Given the description of an element on the screen output the (x, y) to click on. 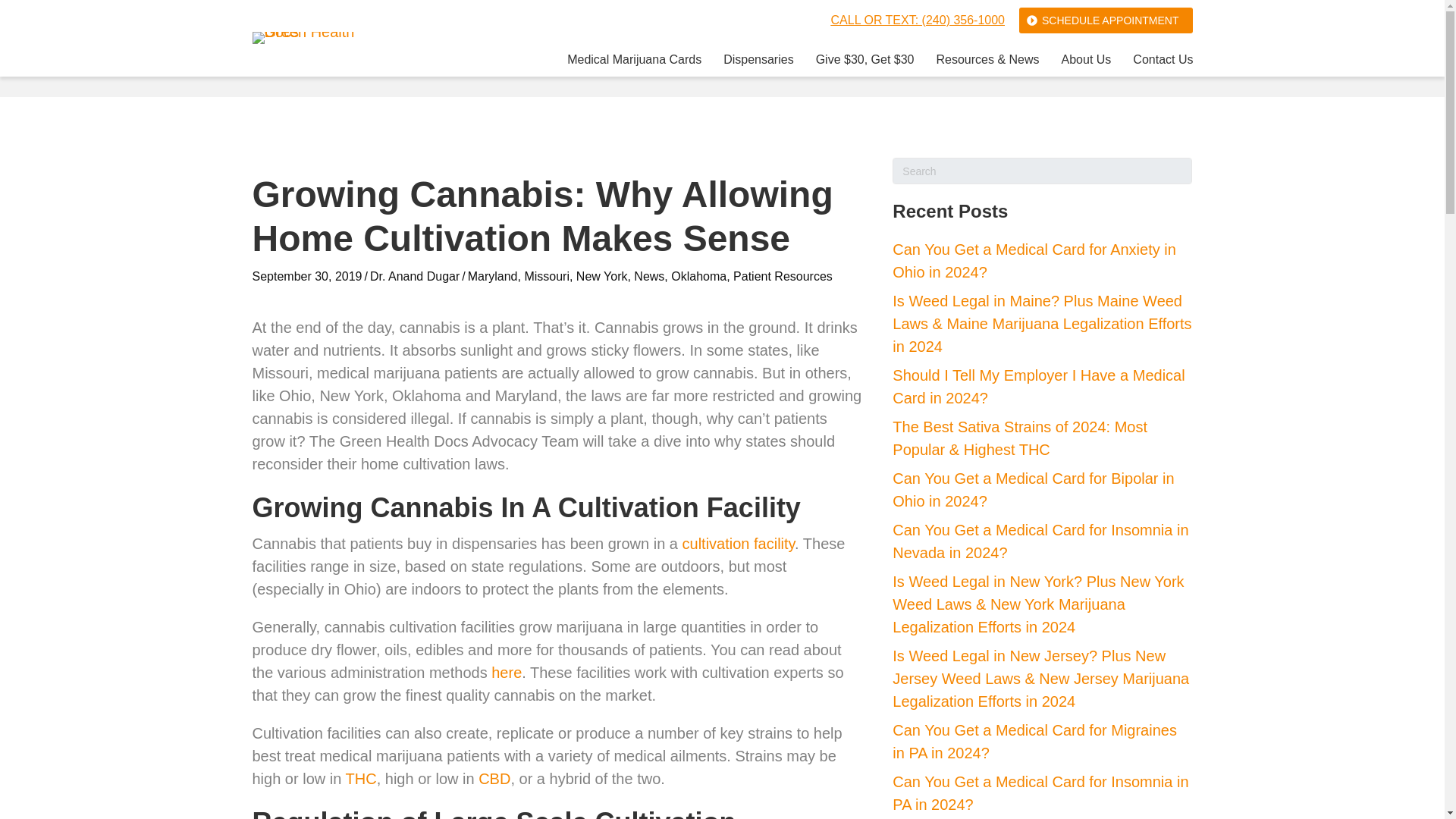
cultivation facility (738, 543)
THC (361, 778)
New York (601, 276)
CBD (495, 778)
Dispensaries (758, 62)
Missouri (546, 276)
Oklahoma (698, 276)
Type and press Enter to search. (1042, 171)
Medical Marijuana Cards (634, 62)
About Us (1086, 62)
